Given the description of an element on the screen output the (x, y) to click on. 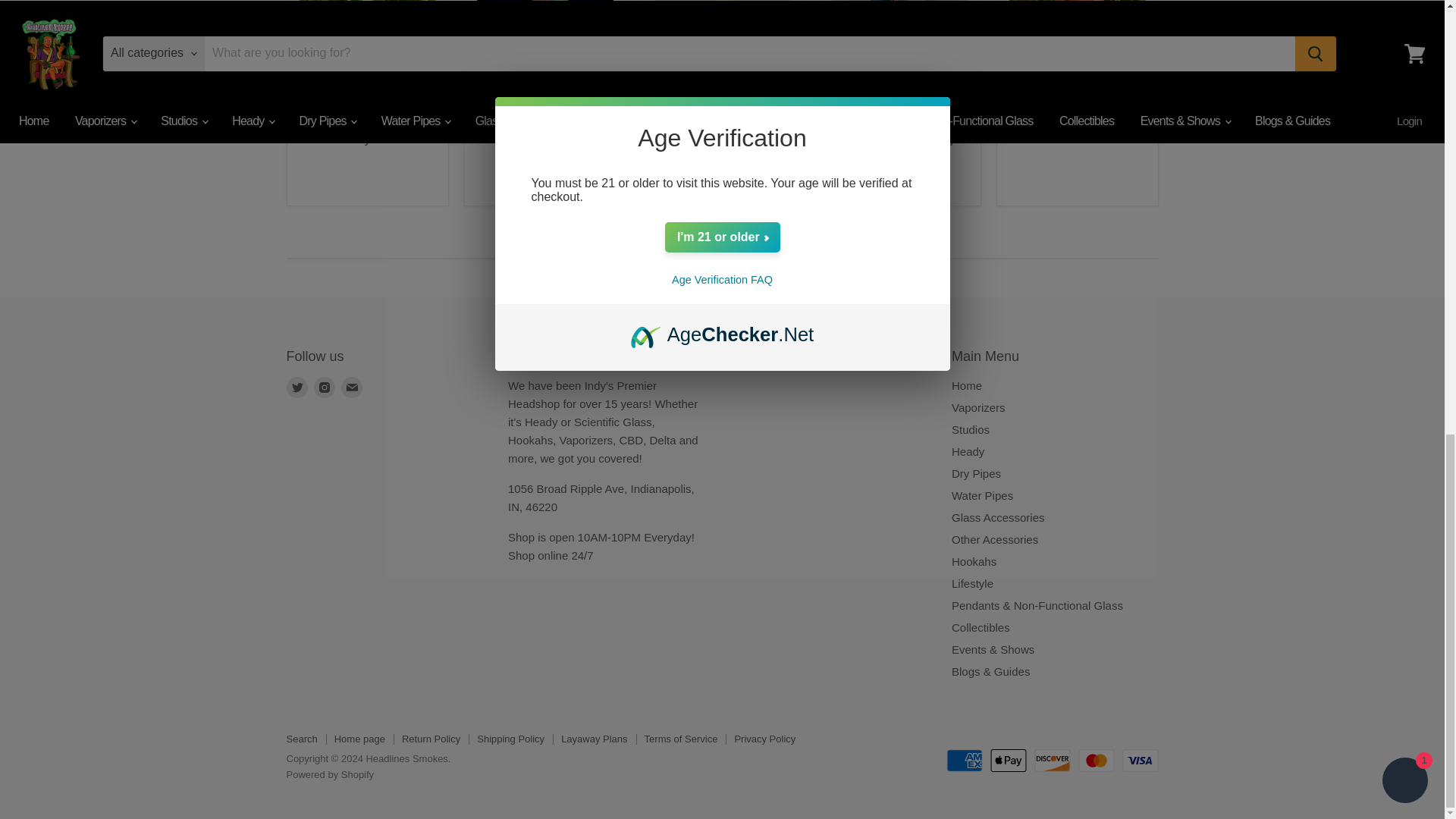
Email (351, 387)
Twitter (296, 387)
Instagram (324, 387)
